Given the description of an element on the screen output the (x, y) to click on. 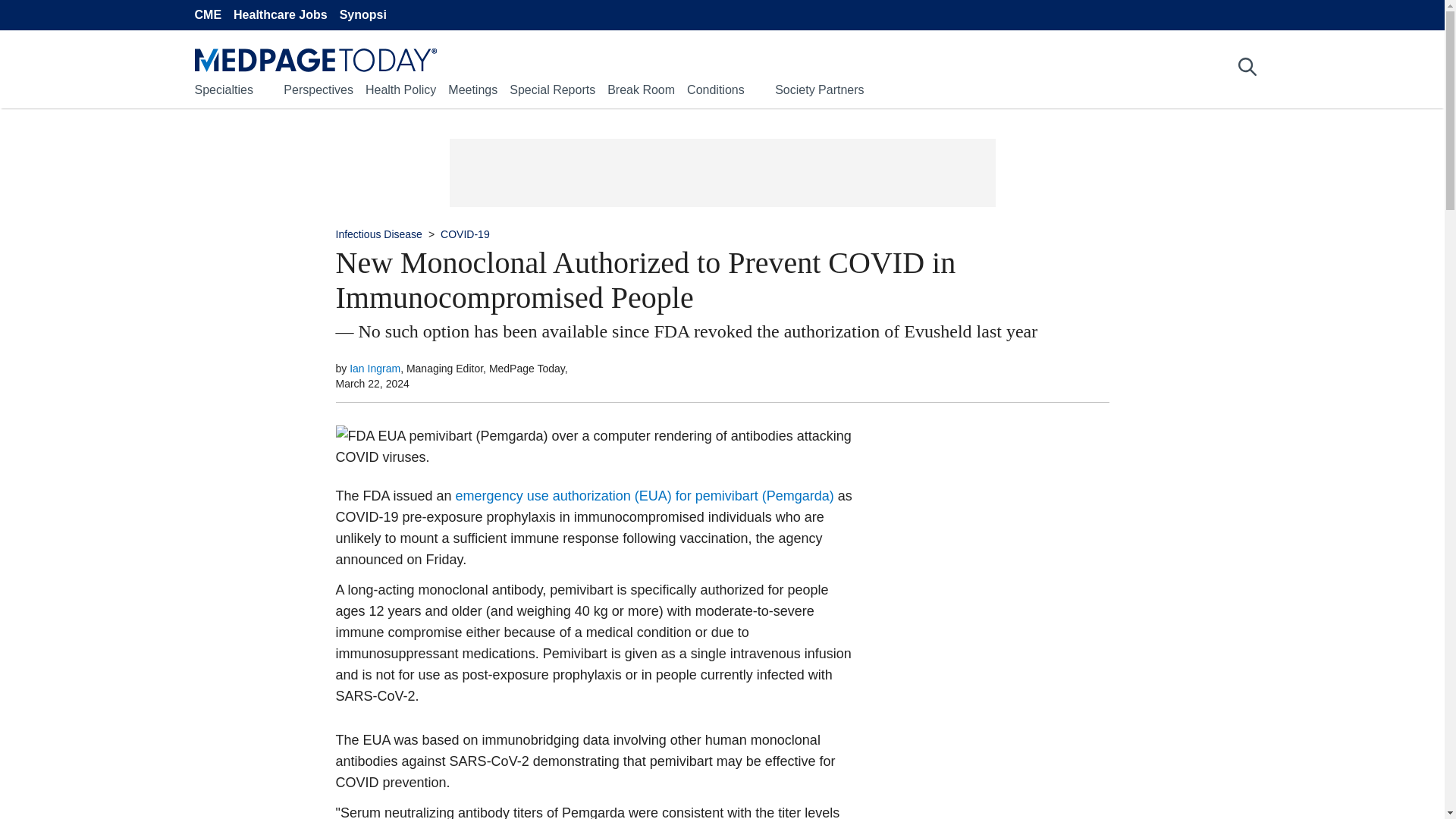
Synopsi (363, 15)
Specialties (222, 89)
Healthcare Jobs (279, 15)
CME (207, 15)
